Given the description of an element on the screen output the (x, y) to click on. 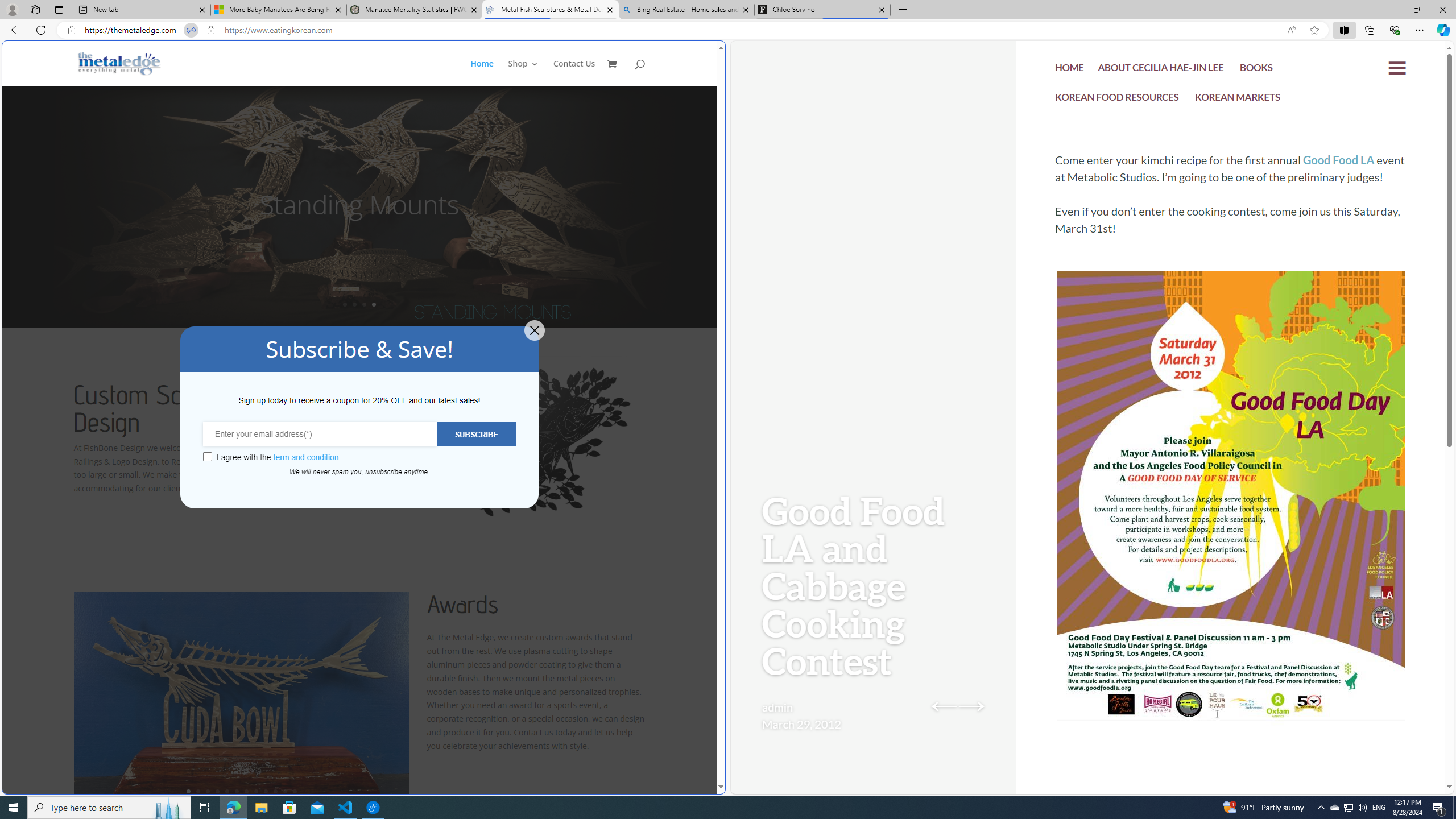
Metal Fish Sculptures & Metal Designs (119, 63)
Chloe Sorvino (822, 9)
Bing Real Estate - Home sales and rental listings (685, 9)
admin (777, 707)
3 (207, 790)
ABOUT CECILIA HAE-JIN LEE (1160, 68)
Shop3 (529, 72)
BOOKS (1256, 70)
March 29, 2012 (801, 723)
BOOKS (1256, 68)
Manatee Mortality Statistics | FWC (414, 9)
